Given the description of an element on the screen output the (x, y) to click on. 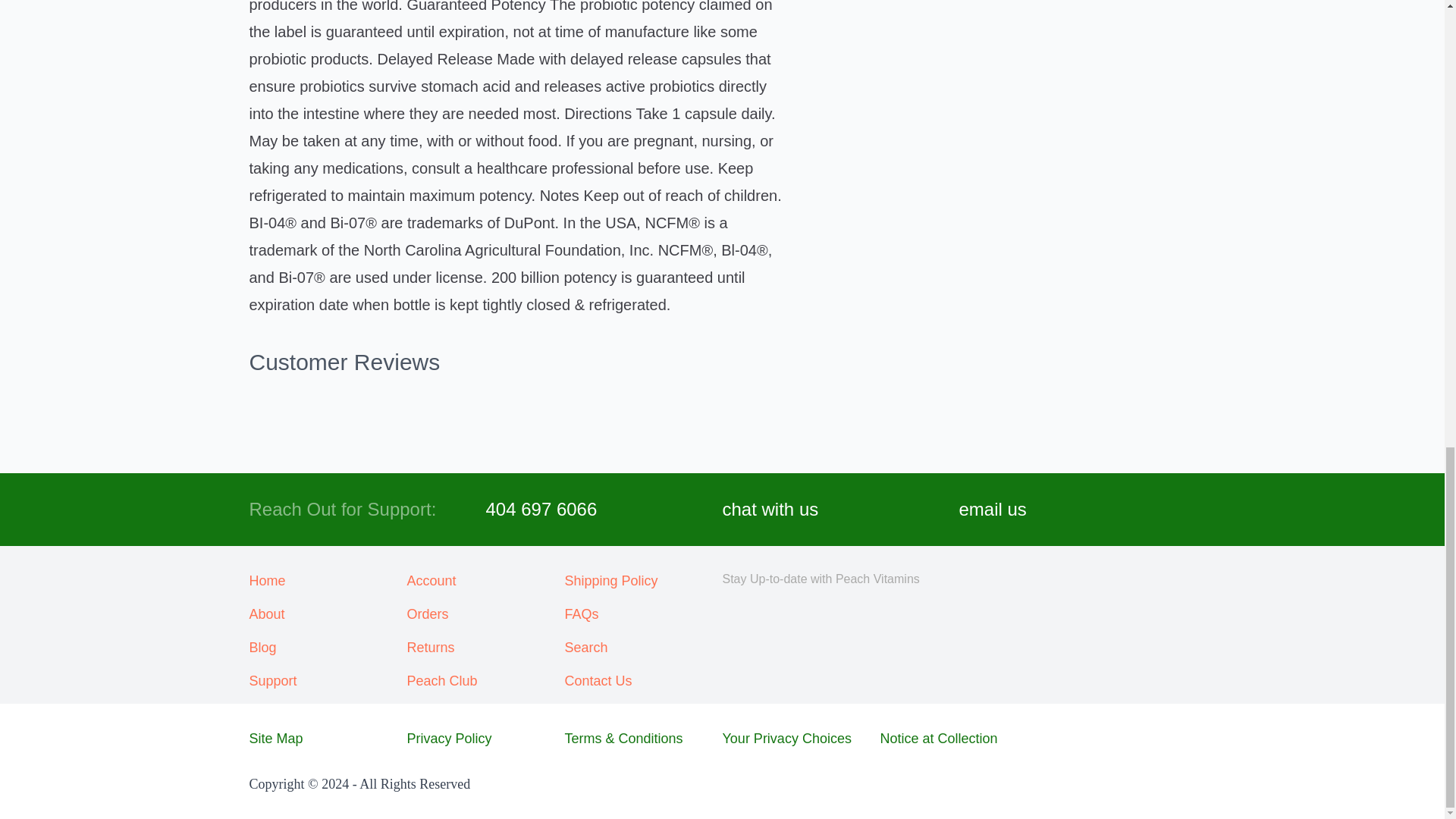
404 697 6066 (540, 509)
Home (327, 580)
chat with us (770, 509)
email us (992, 509)
